Given the description of an element on the screen output the (x, y) to click on. 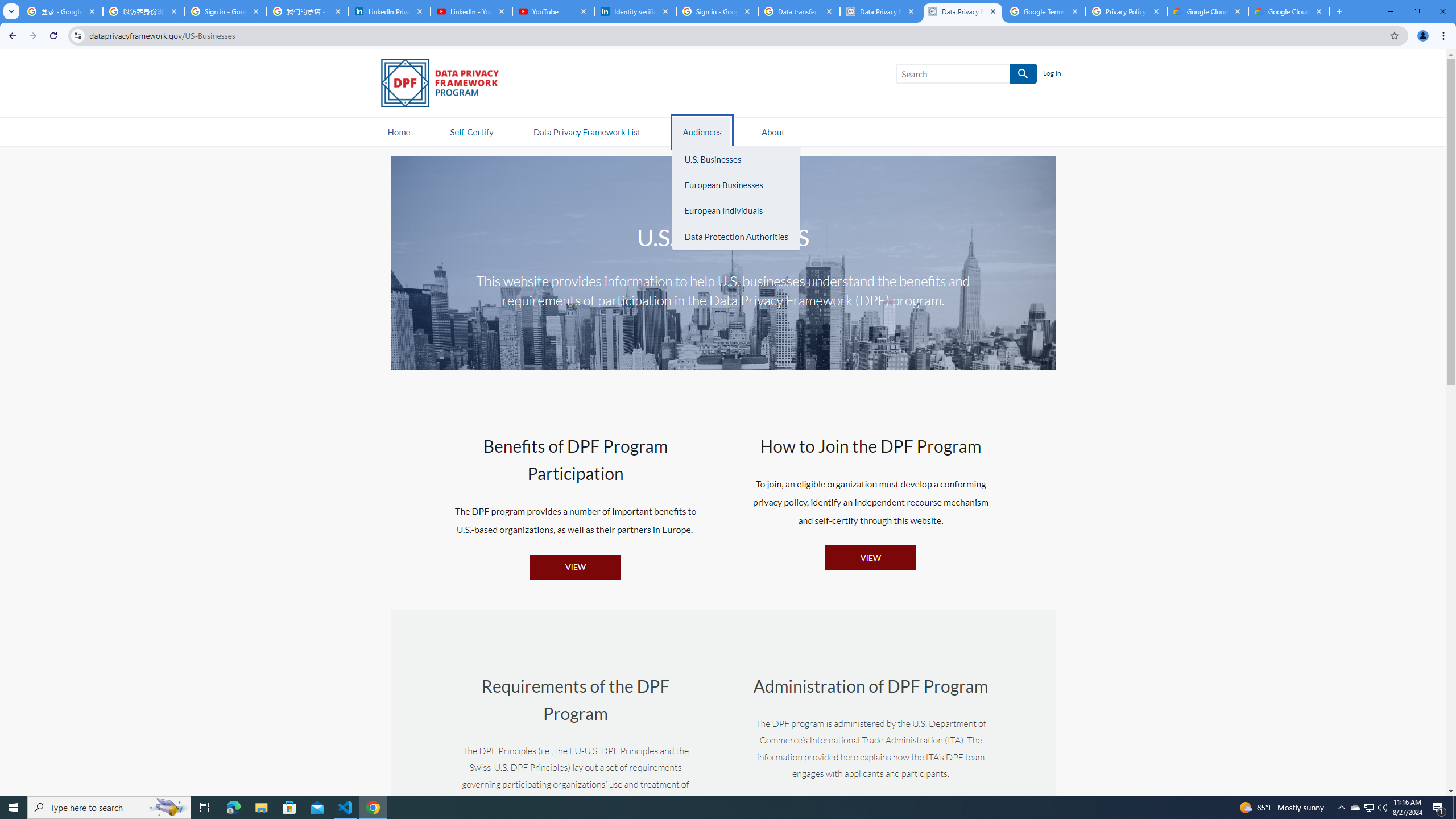
Data Protection Authorities (735, 236)
YouTube (552, 11)
LinkedIn - YouTube (470, 11)
Data Privacy Framework List (586, 131)
AutomationID: navitem2 (772, 131)
